Given the description of an element on the screen output the (x, y) to click on. 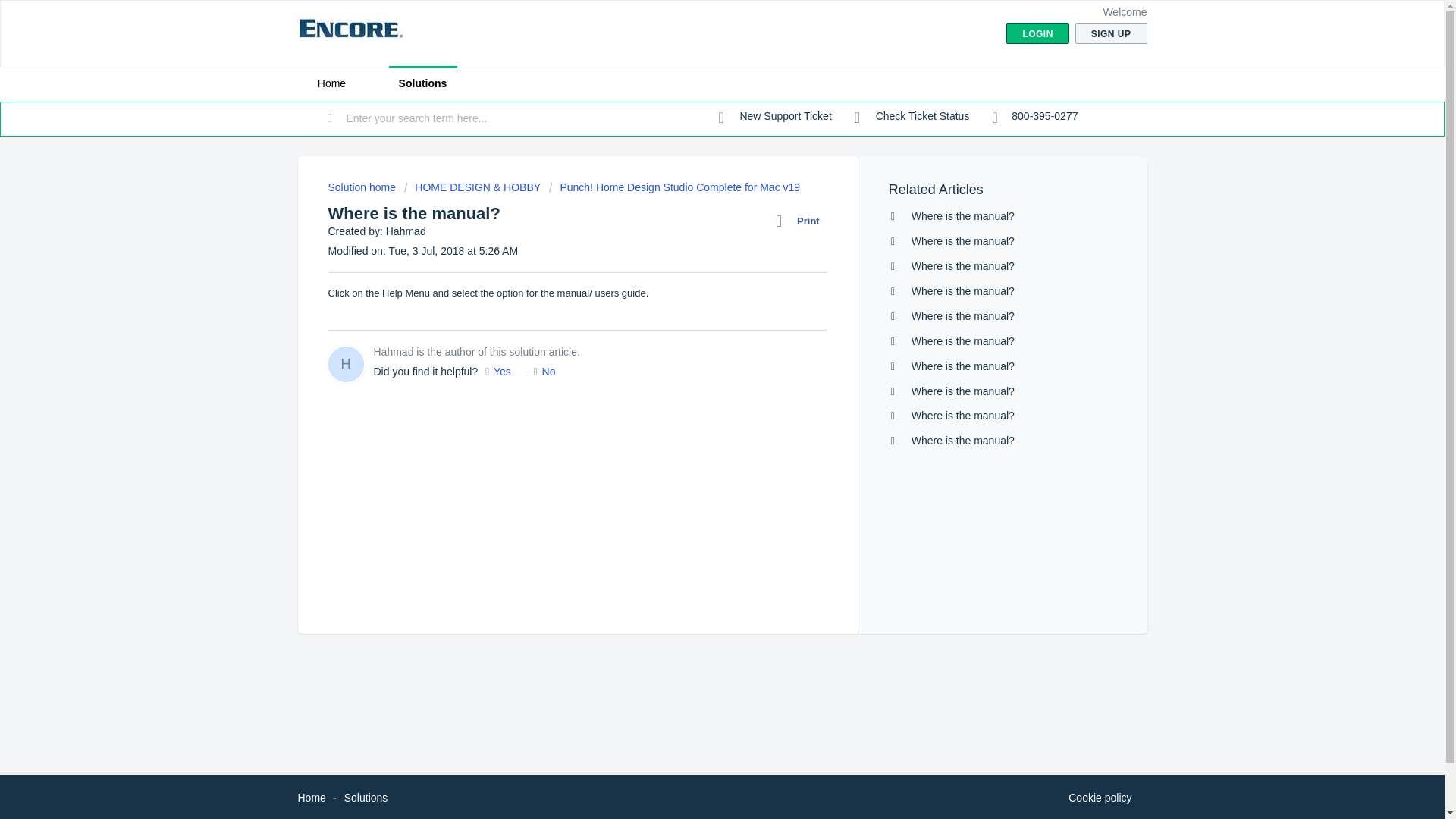
New support ticket (775, 116)
Where is the manual? (962, 215)
Check Ticket Status (911, 116)
New Support Ticket (775, 116)
Home (310, 797)
Where is the manual? (962, 340)
Print this Article (801, 220)
Where is the manual? (962, 265)
Solution home (362, 186)
SIGN UP (1111, 33)
